Given the description of an element on the screen output the (x, y) to click on. 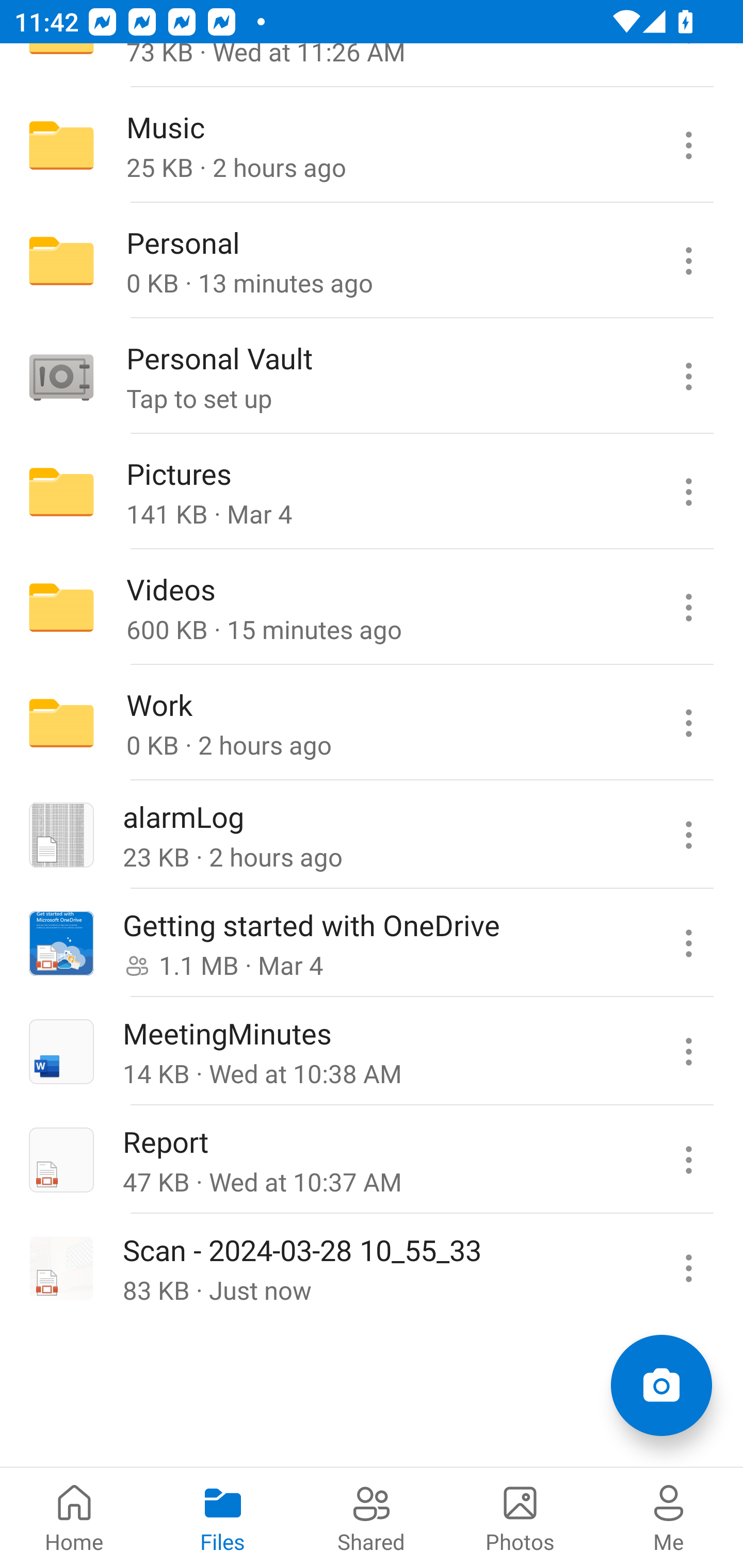
Folder Music 25 KB · 2 hours ago Music commands (371, 145)
Music commands (688, 145)
Personal commands (688, 260)
Personal Vault commands (688, 376)
Folder Pictures 141 KB · Mar 4 Pictures commands (371, 492)
Pictures commands (688, 492)
Videos commands (688, 607)
Folder Work 0 KB · 2 hours ago Work commands (371, 722)
Work commands (688, 722)
alarmLog commands (688, 834)
Getting started with OneDrive commands (688, 943)
MeetingMinutes commands (688, 1051)
Report commands (688, 1159)
Scan - 2024-03-28 10_55_33 commands (688, 1267)
Add items Scan (660, 1385)
Home pivot Home (74, 1517)
Shared pivot Shared (371, 1517)
Photos pivot Photos (519, 1517)
Me pivot Me (668, 1517)
